Given the description of an element on the screen output the (x, y) to click on. 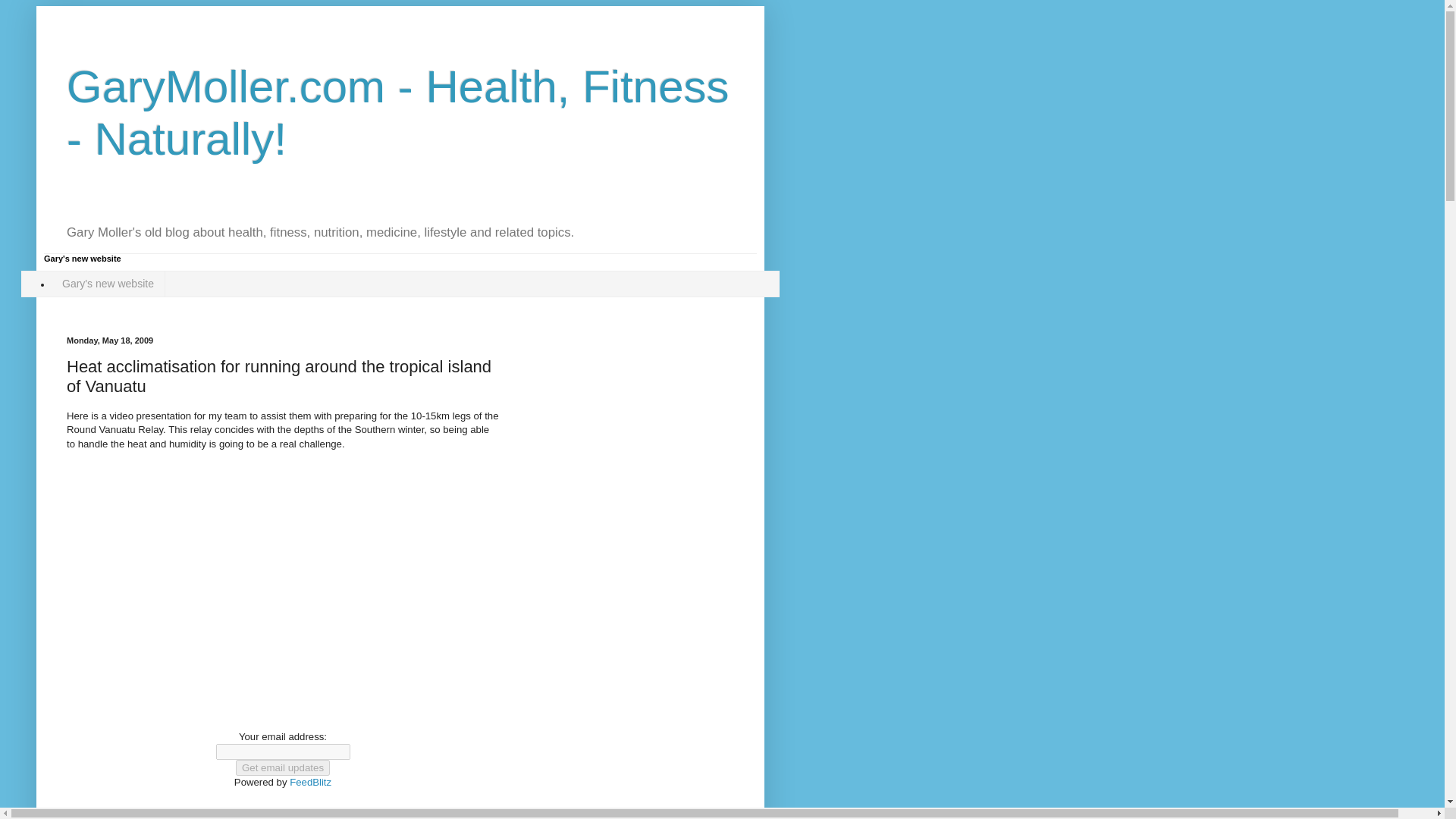
GaryMoller.com - Health, Fitness - Naturally! (397, 112)
FeedBlitz (310, 781)
Get email updates (282, 767)
Gary's new website (107, 283)
Get email updates (282, 767)
